Given the description of an element on the screen output the (x, y) to click on. 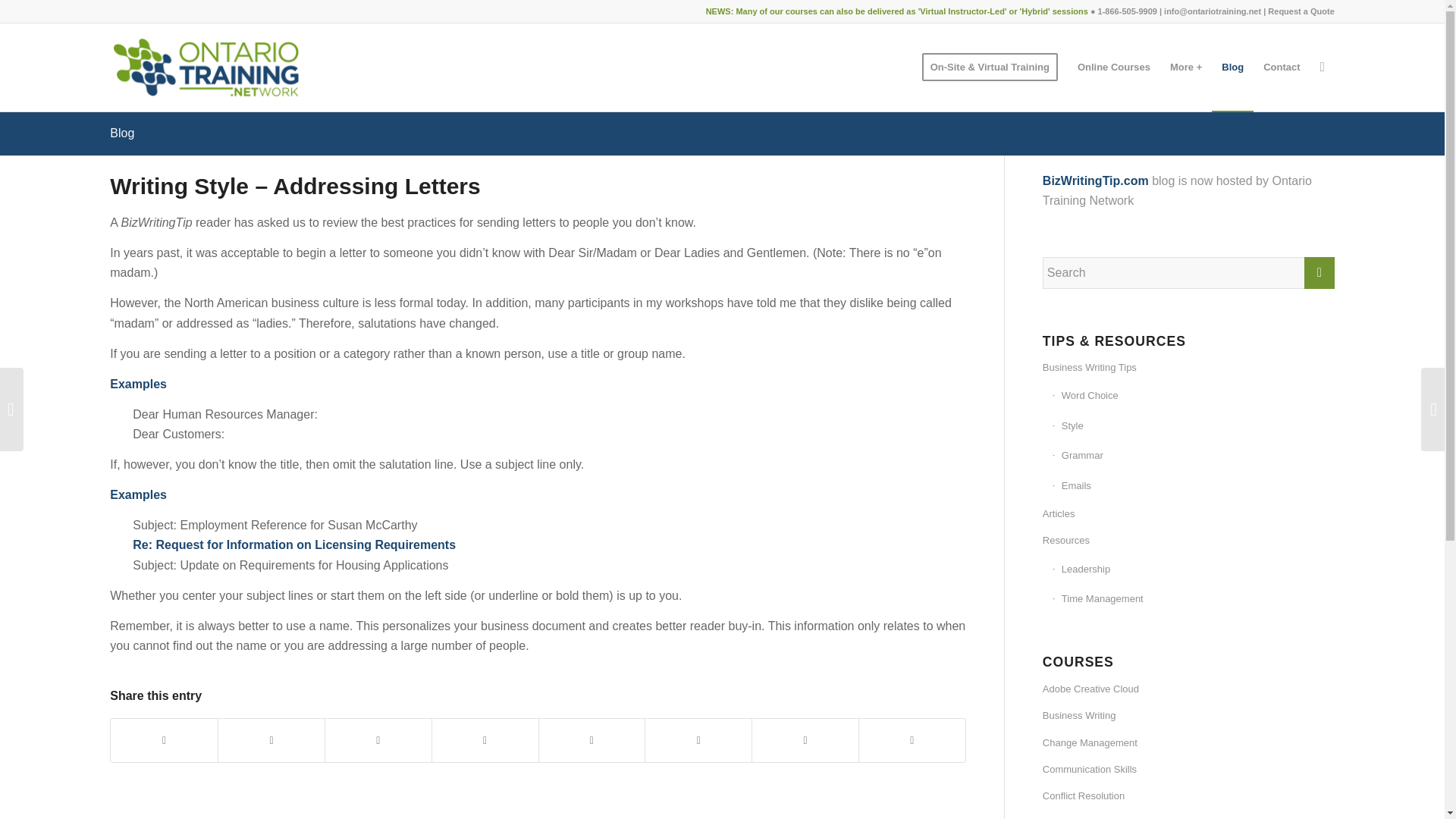
Online Courses (1113, 67)
1-866-505-9909 (1127, 10)
Permanent Link: Blog (121, 132)
Request a Quote (1300, 10)
Ontario Training Network (205, 67)
